Given the description of an element on the screen output the (x, y) to click on. 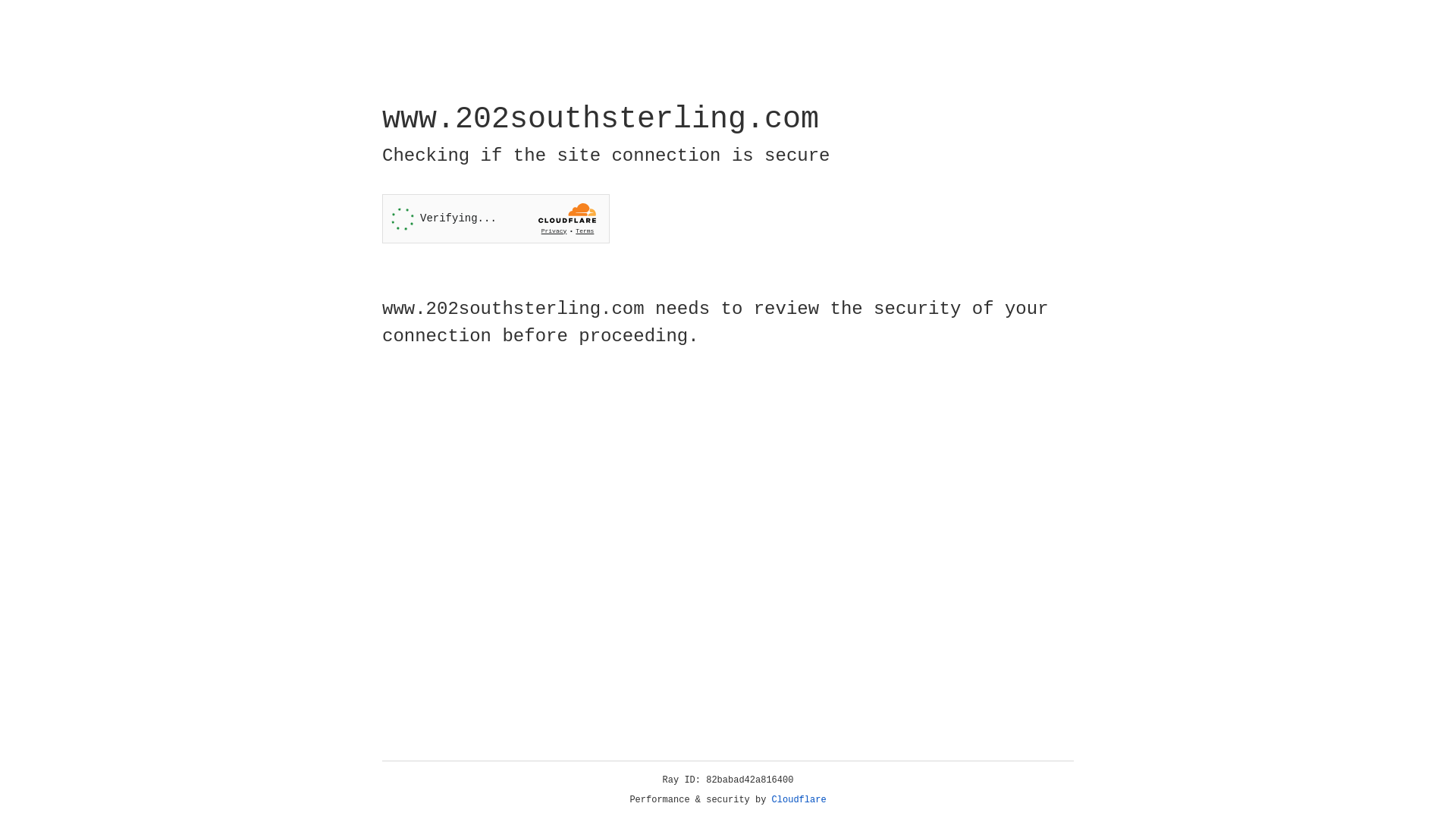
Cloudflare Element type: text (798, 799)
Widget containing a Cloudflare security challenge Element type: hover (495, 218)
